Given the description of an element on the screen output the (x, y) to click on. 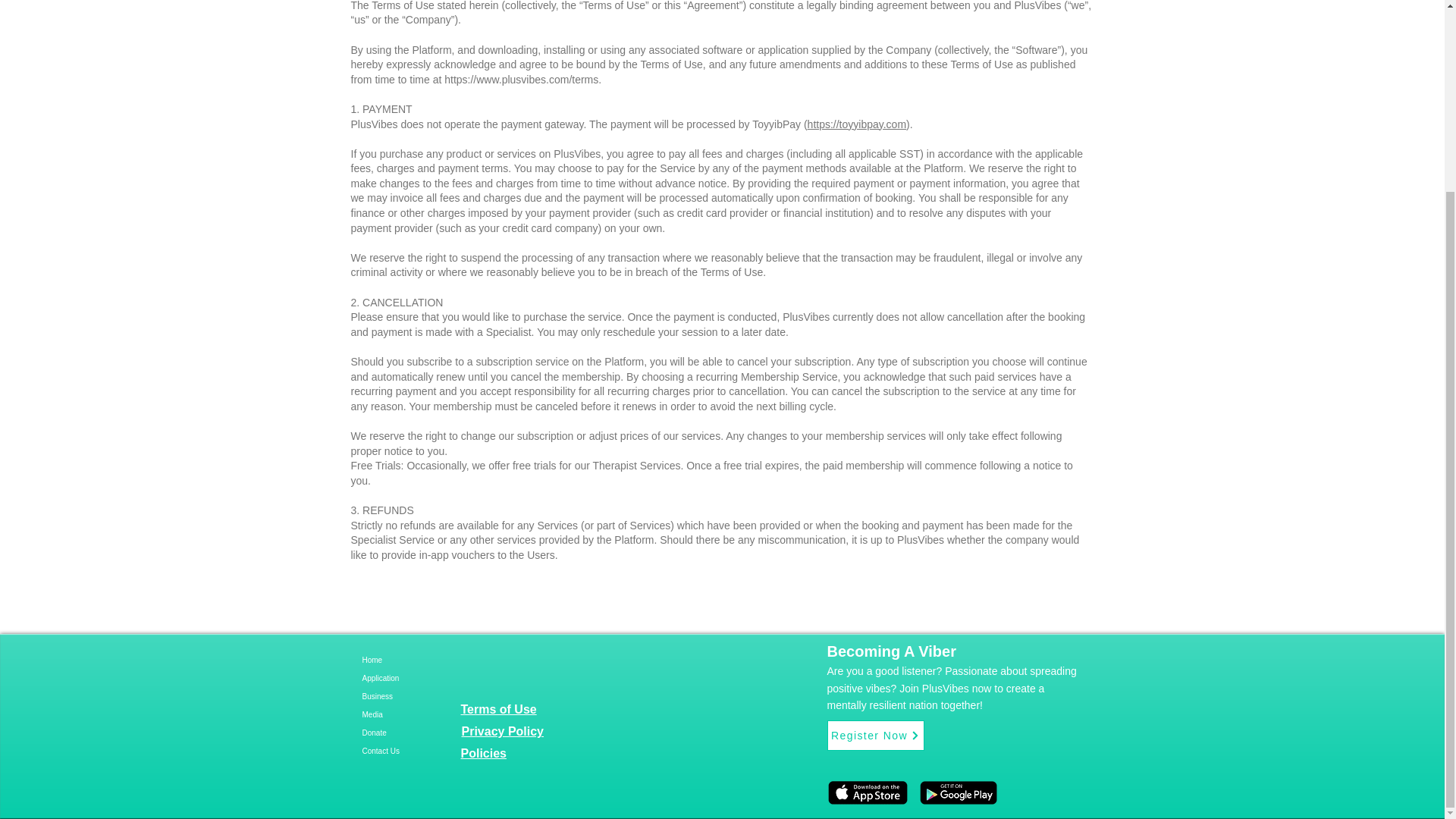
Privacy Policy (502, 730)
Register Now (875, 735)
Policies (483, 753)
Business (419, 696)
Home (419, 660)
Terms of Use (499, 708)
Donate (419, 732)
Application (419, 678)
Contact Us (419, 751)
Media (419, 714)
